Given the description of an element on the screen output the (x, y) to click on. 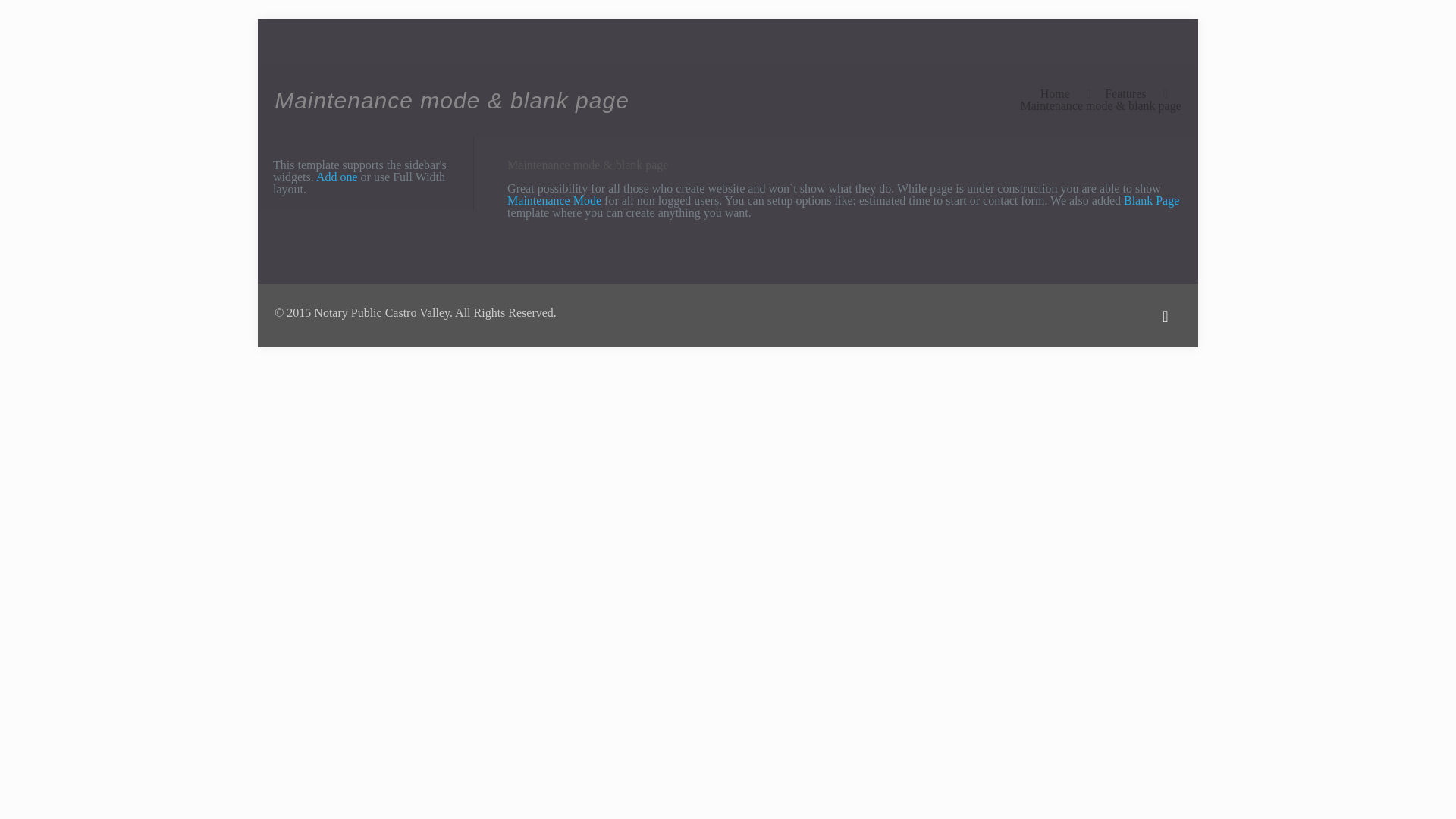
Home (1055, 92)
Maintenance Mode (553, 200)
Features (1125, 92)
Add one (336, 176)
Blank Page (1151, 200)
